Given the description of an element on the screen output the (x, y) to click on. 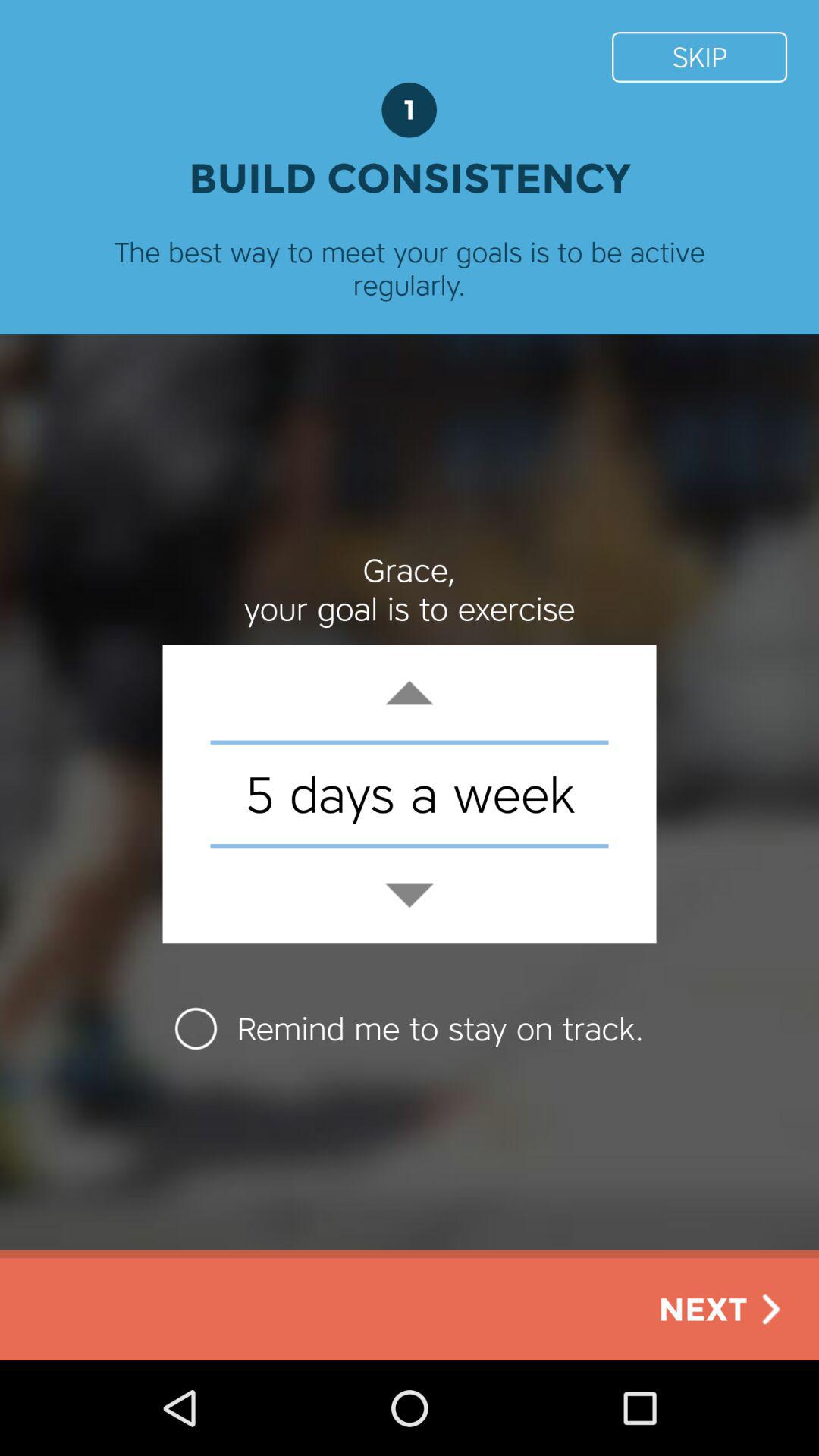
jump to 5 days a icon (409, 794)
